Given the description of an element on the screen output the (x, y) to click on. 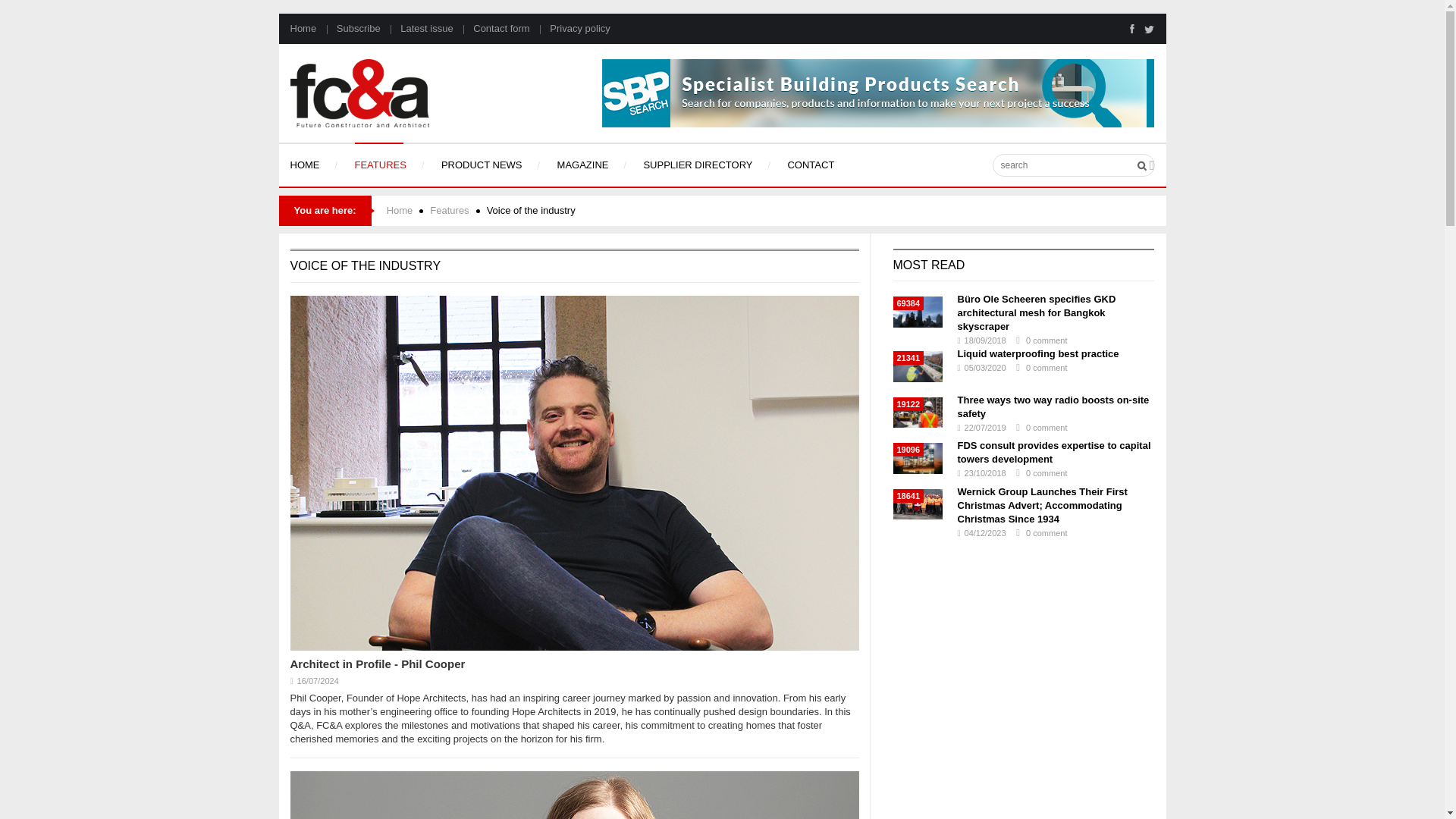
MAGAZINE (580, 165)
Subscribe (349, 28)
Contact form (492, 28)
Features (378, 165)
Privacy policy (571, 28)
Home  (306, 165)
Latest issue (418, 28)
Magazine (580, 165)
Product News (479, 165)
Home (302, 28)
FEATURES (378, 165)
PRODUCT NEWS (479, 165)
HOME (306, 165)
